Given the description of an element on the screen output the (x, y) to click on. 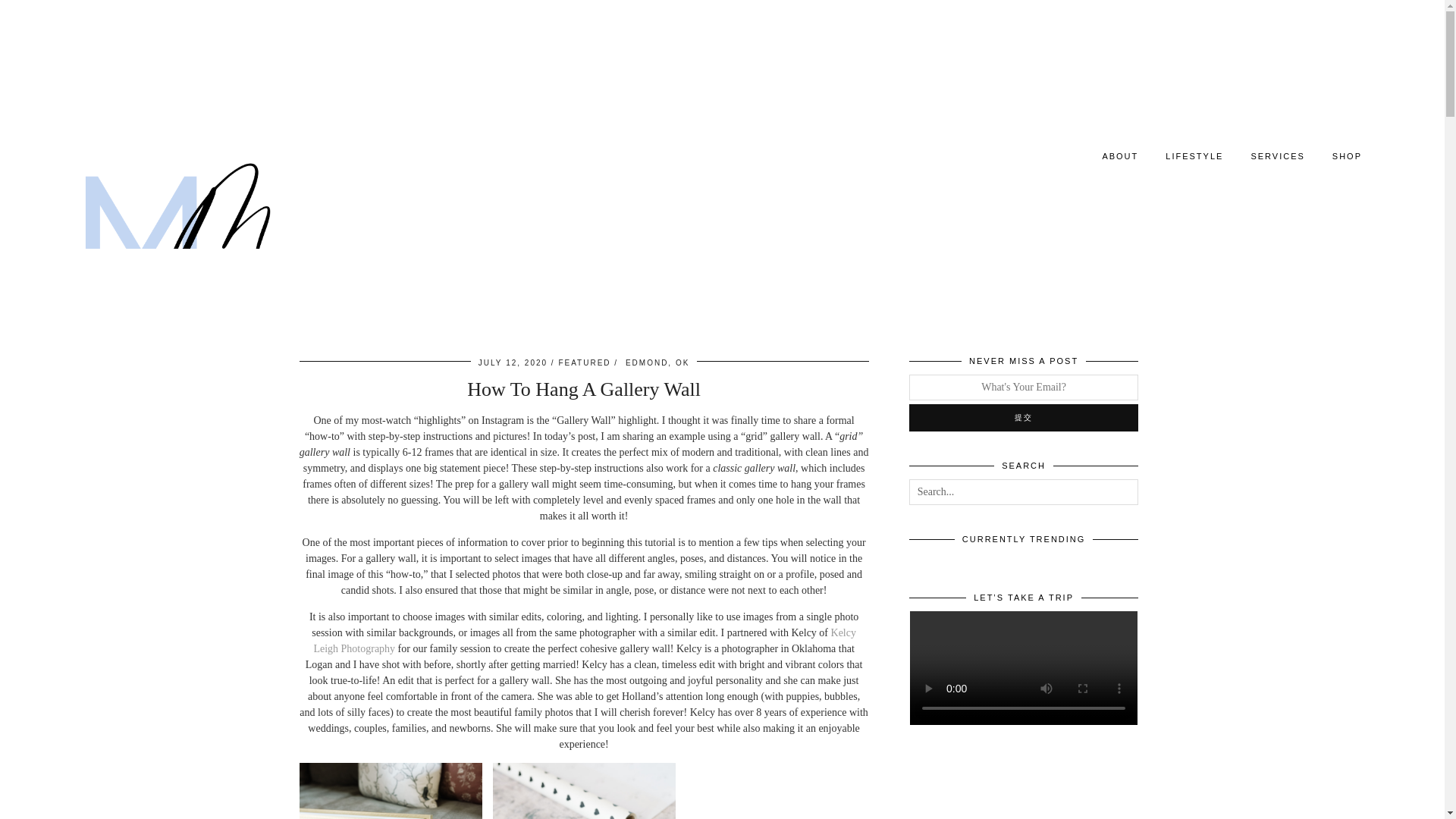
FEATURED (583, 362)
SHOP (1347, 155)
ABOUT (1119, 155)
LIFESTYLE (1193, 155)
Madison Magill (175, 230)
SERVICES (1276, 155)
